Given the description of an element on the screen output the (x, y) to click on. 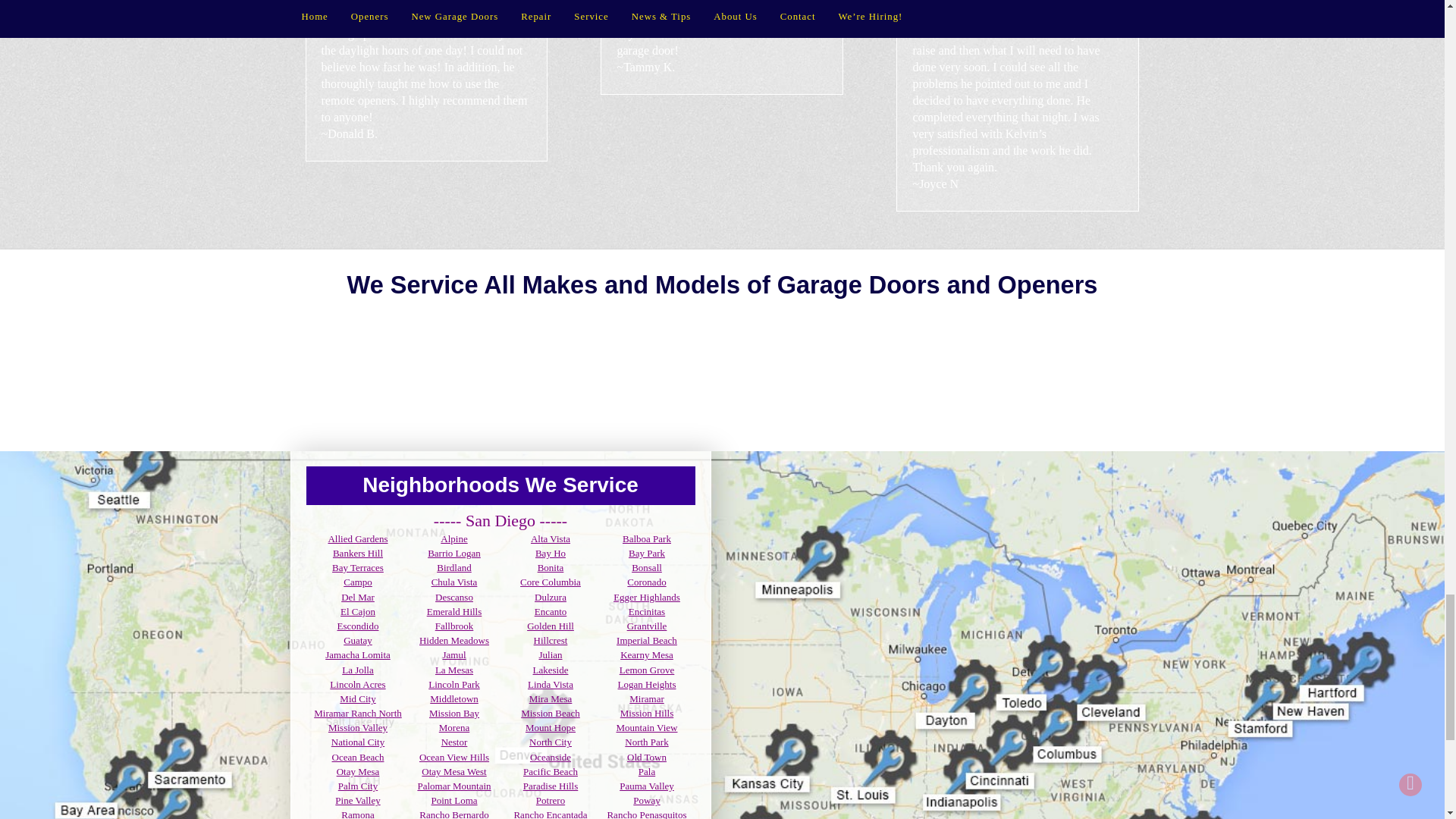
Allied Gardens (357, 538)
Alpine (454, 538)
----- San Diego ----- (500, 520)
Alta Vista (550, 538)
